Given the description of an element on the screen output the (x, y) to click on. 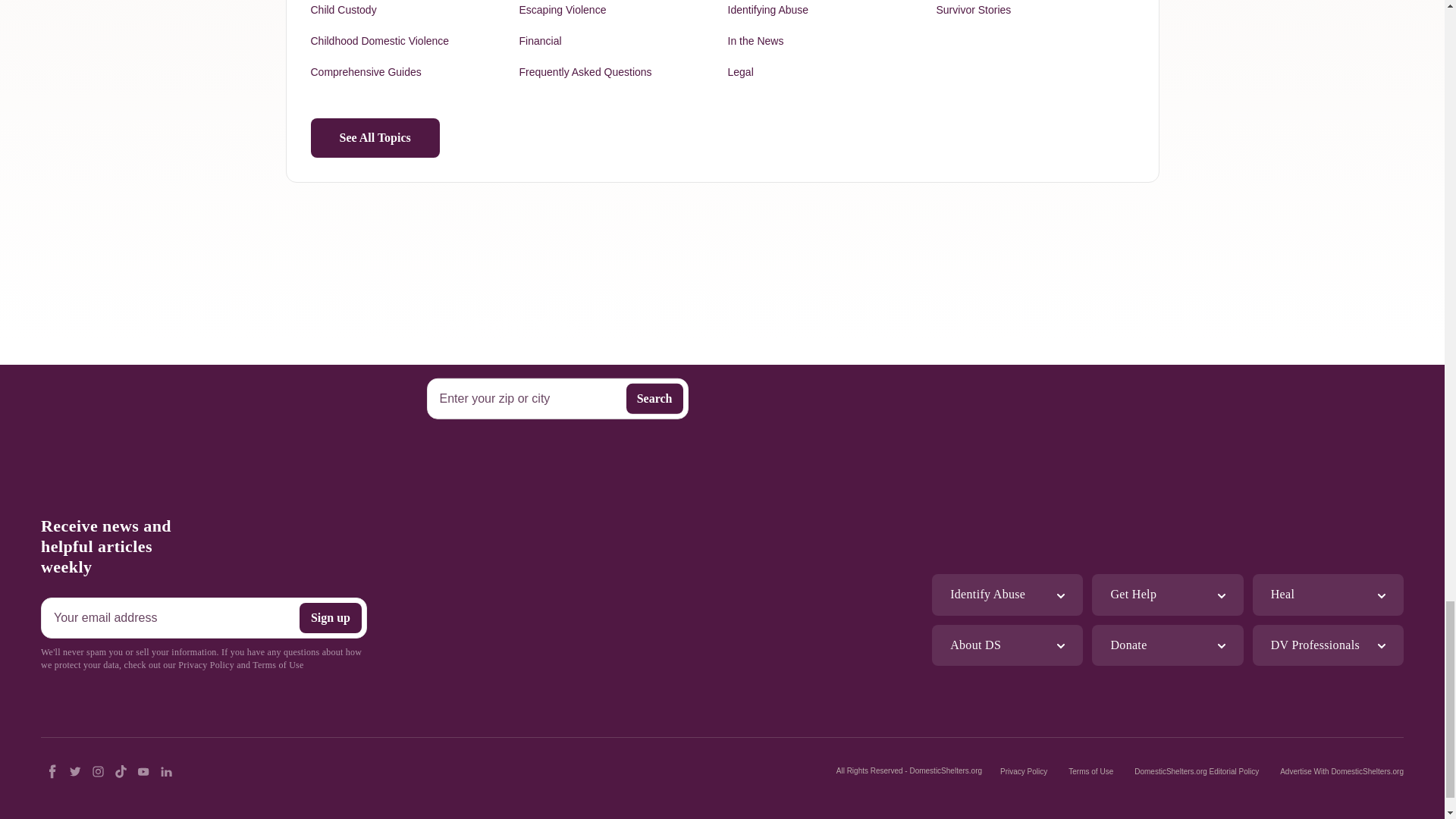
Sign up (330, 617)
